Given the description of an element on the screen output the (x, y) to click on. 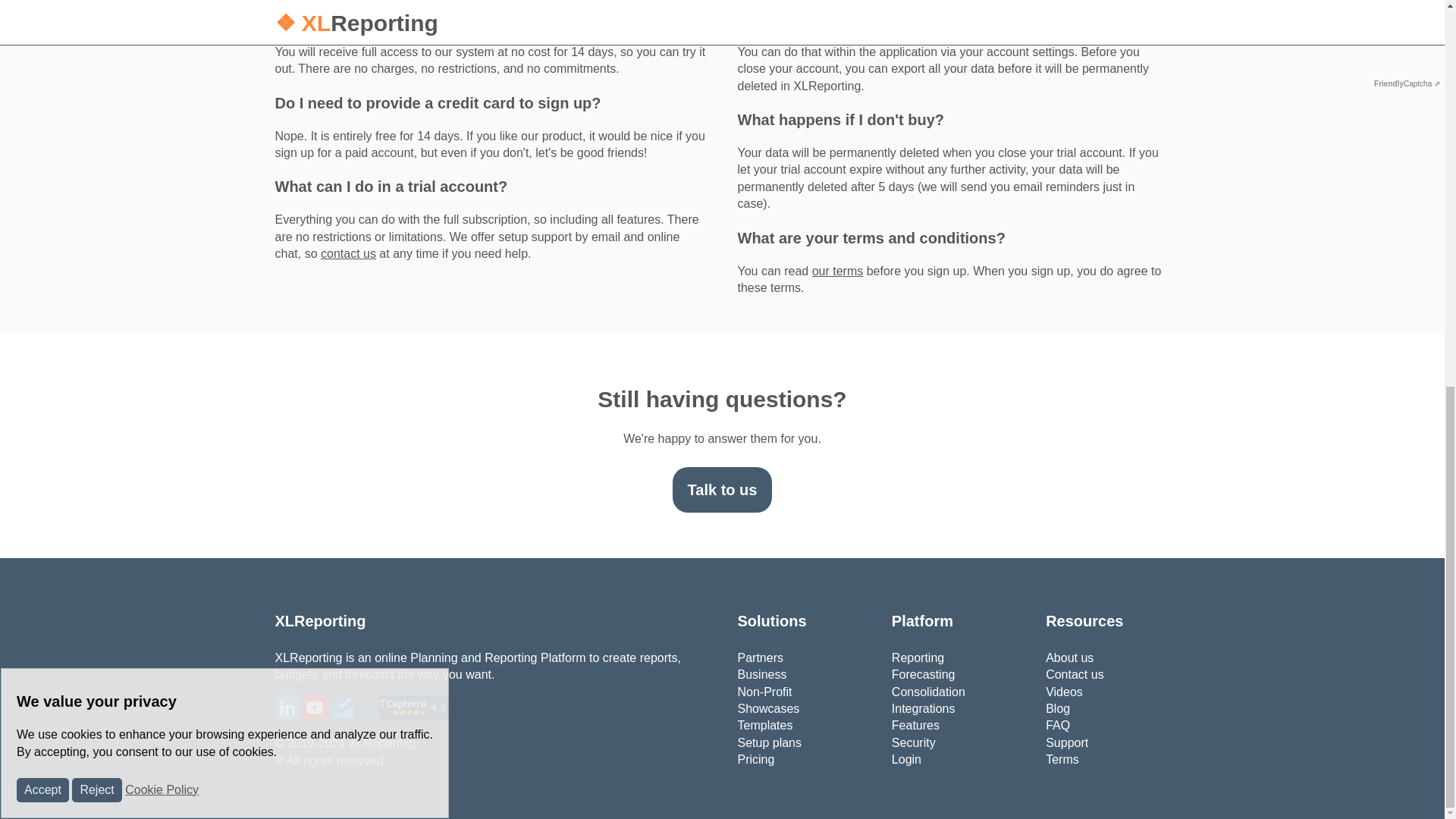
Cookie Policy (161, 59)
Pricing (755, 758)
Non-Profit (764, 690)
Terms (1061, 758)
Templates (764, 725)
Forecasting (923, 674)
Reporting (917, 657)
Integrations (923, 707)
Login (906, 758)
FAQ (1057, 725)
Security (913, 742)
Setup plans (769, 742)
Talk to us (722, 489)
Accept (42, 59)
contact us (347, 253)
